Given the description of an element on the screen output the (x, y) to click on. 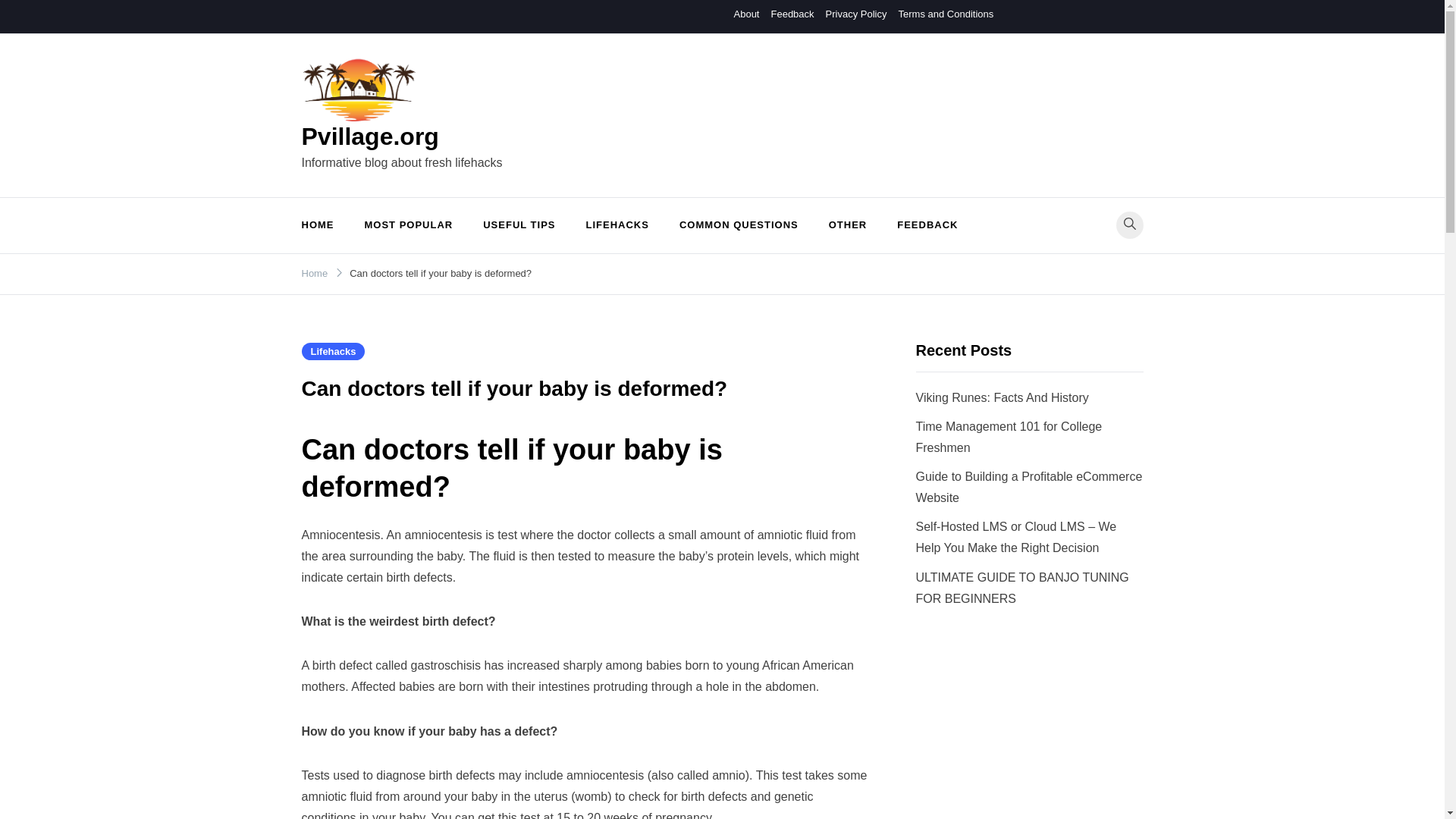
Home (315, 273)
About (746, 13)
Lifehacks (333, 351)
MOST POPULAR (408, 225)
Viking Runes: Facts And History (1002, 397)
Terms and Conditions (945, 13)
LIFEHACKS (616, 225)
COMMON QUESTIONS (738, 225)
ULTIMATE GUIDE TO BANJO TUNING FOR BEGINNERS (1022, 587)
OTHER (847, 225)
